Given the description of an element on the screen output the (x, y) to click on. 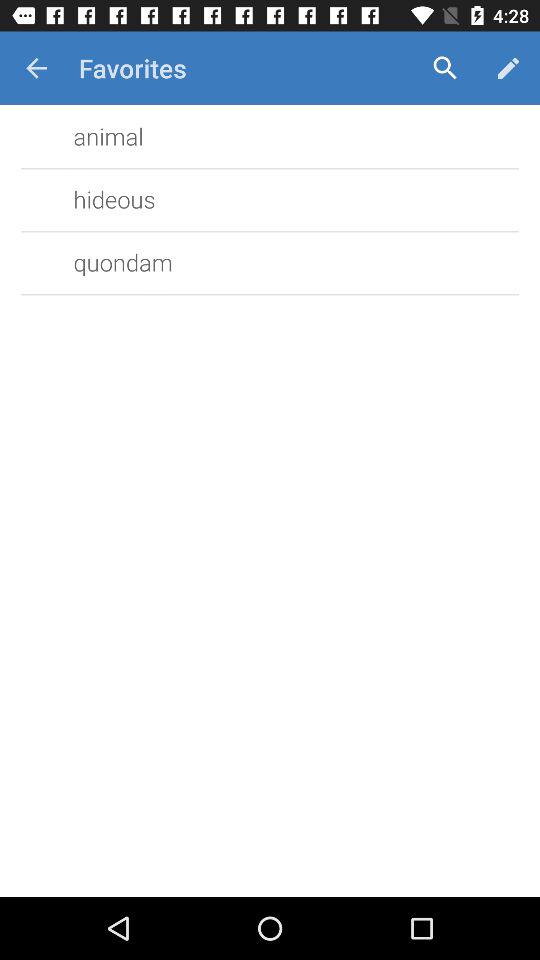
click item to the left of favorites icon (36, 68)
